Given the description of an element on the screen output the (x, y) to click on. 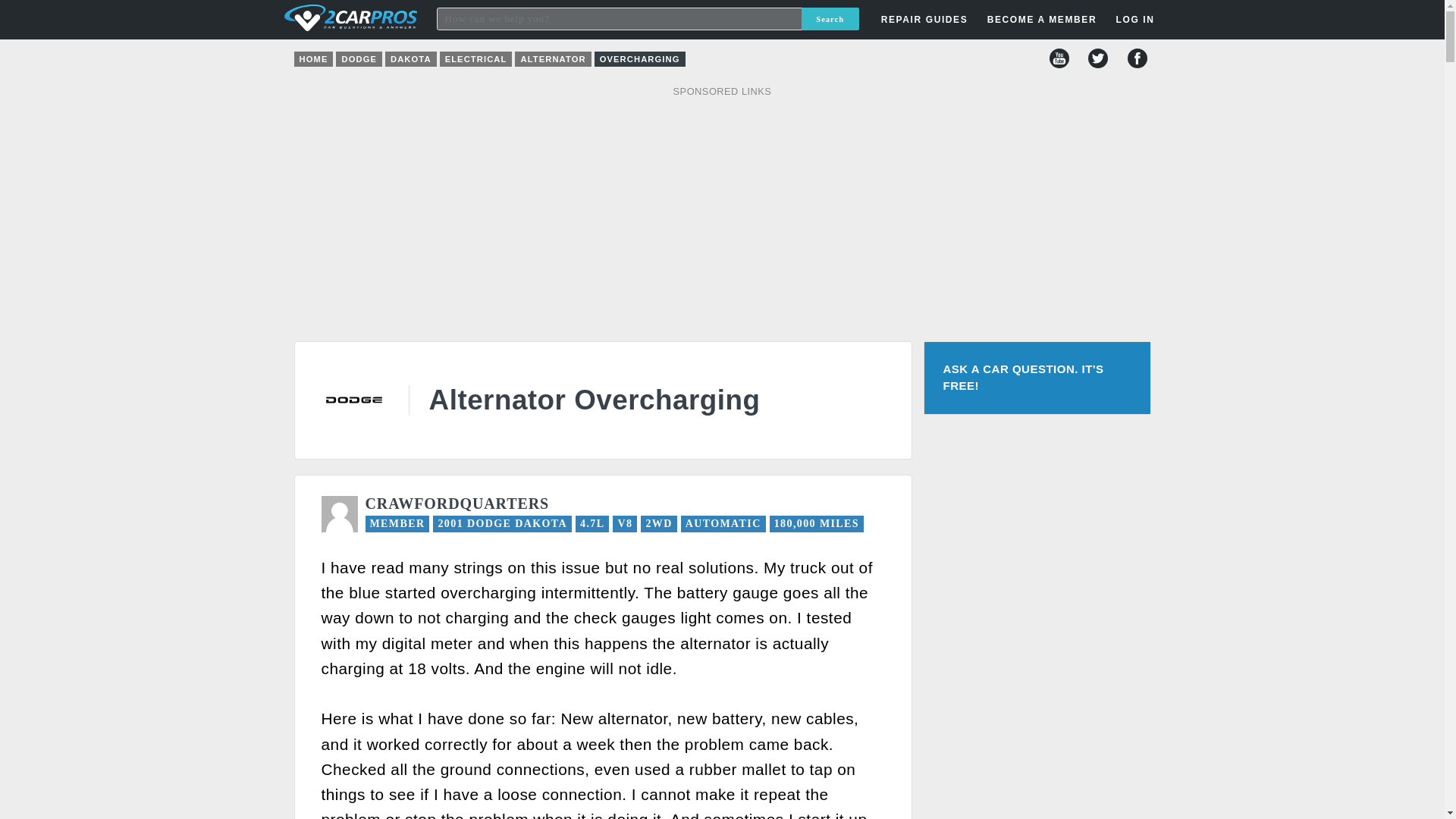
Facebook (1136, 57)
Twitter (1097, 57)
DAKOTA (410, 58)
YouTube (1058, 57)
OVERCHARGING (639, 58)
ELECTRICAL (475, 58)
LOG IN (1048, 242)
Search (830, 18)
Search (830, 18)
HOME (313, 58)
BECOME A MEMBER (1041, 19)
DODGE (358, 58)
LOG IN (1134, 19)
ALTERNATOR (553, 58)
